Given the description of an element on the screen output the (x, y) to click on. 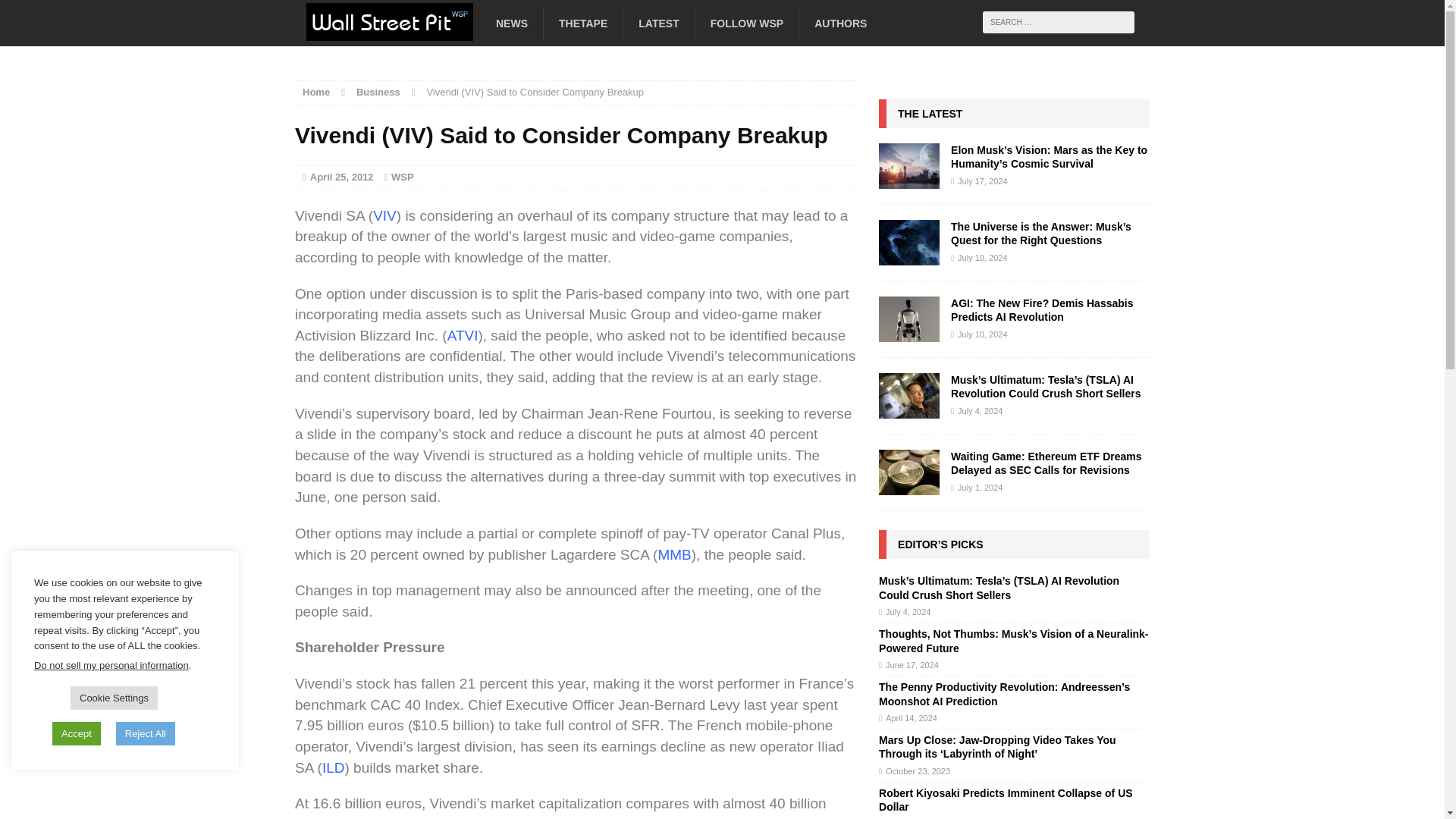
AGI: The New Fire? Demis Hassabis Predicts AI Revolution (909, 333)
NEWS (511, 23)
Wall Street Pit (427, 28)
AGI: The New Fire? Demis Hassabis Predicts AI Revolution (1041, 309)
LATEST (658, 23)
THETAPE (583, 23)
